Given the description of an element on the screen output the (x, y) to click on. 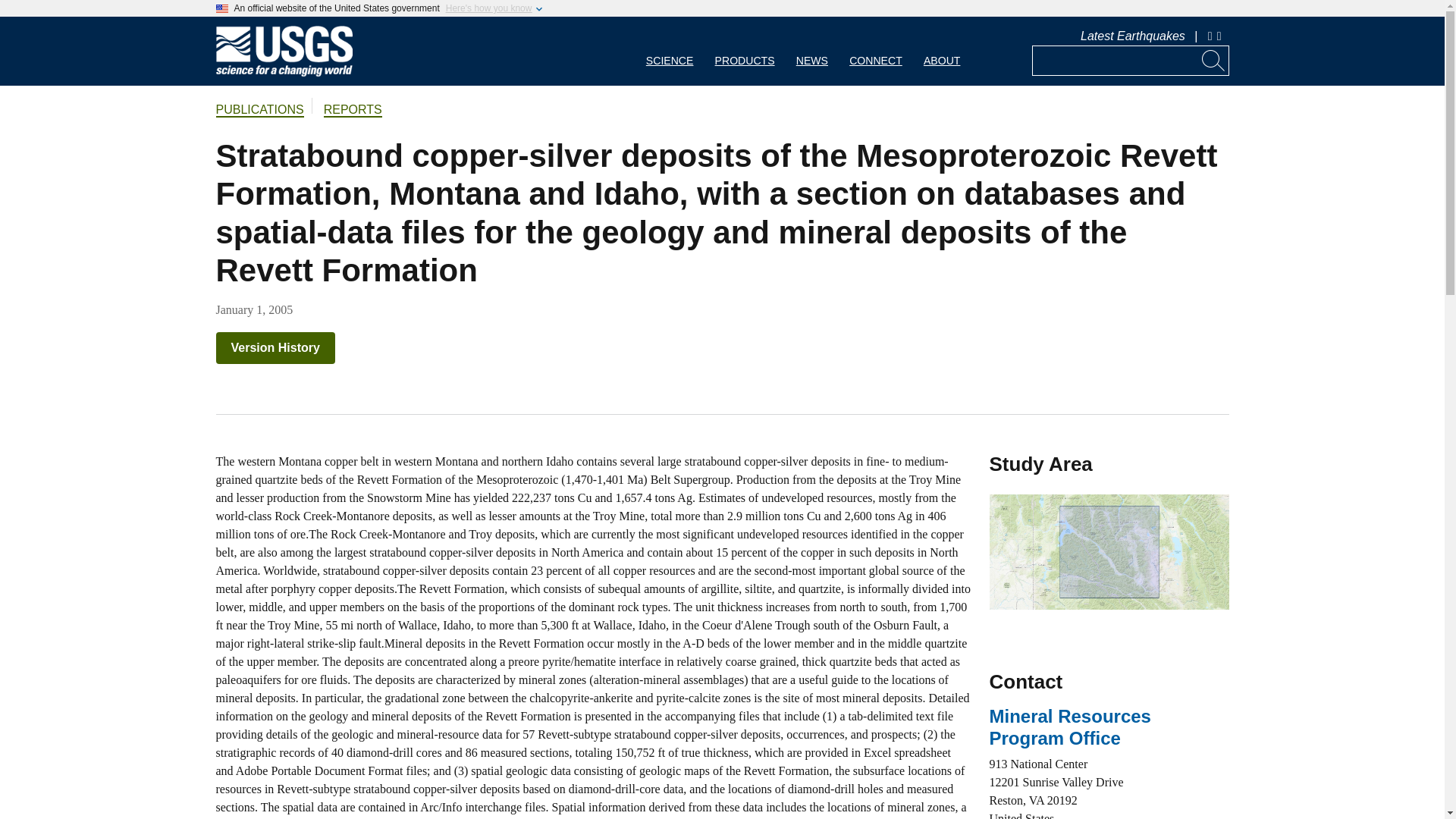
Latest Earthquakes (1132, 35)
SCIENCE (669, 50)
CONNECT (875, 50)
Share Social Media (1220, 36)
REPORTS (352, 110)
PRODUCTS (745, 50)
ABOUT (941, 50)
Here's how you know (488, 8)
NEWS (812, 50)
Live WebChat (1210, 35)
Home (283, 72)
Version History (274, 347)
PUBLICATIONS (258, 110)
